Given the description of an element on the screen output the (x, y) to click on. 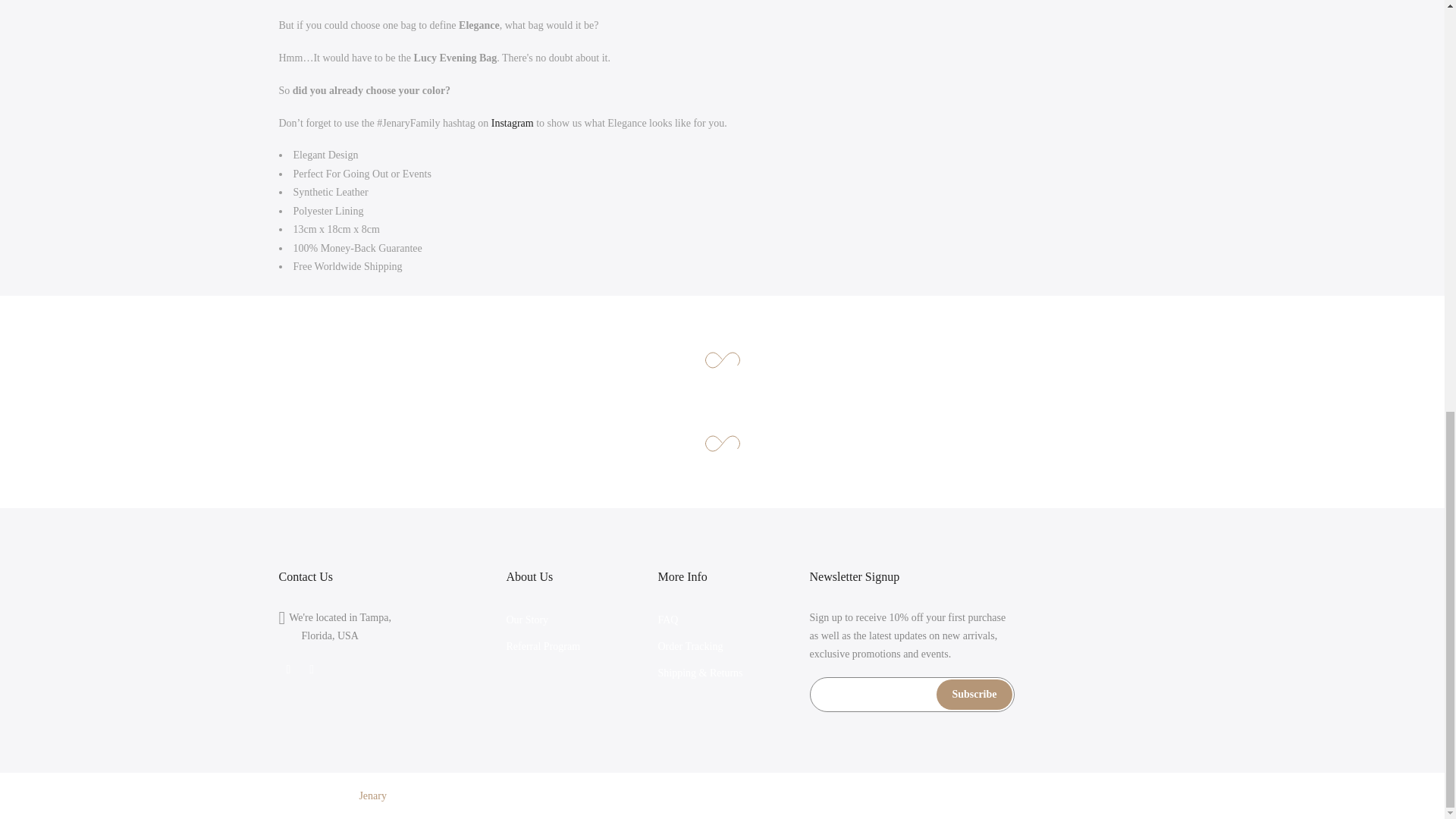
The4. (534, 795)
Subscribe (973, 694)
Terms of Service (1129, 795)
Order Tracking (690, 645)
FAQ (668, 619)
Referral Program (543, 645)
Instagram (513, 122)
Privacy Policy (946, 795)
Our Story (527, 619)
Search (886, 795)
